Given the description of an element on the screen output the (x, y) to click on. 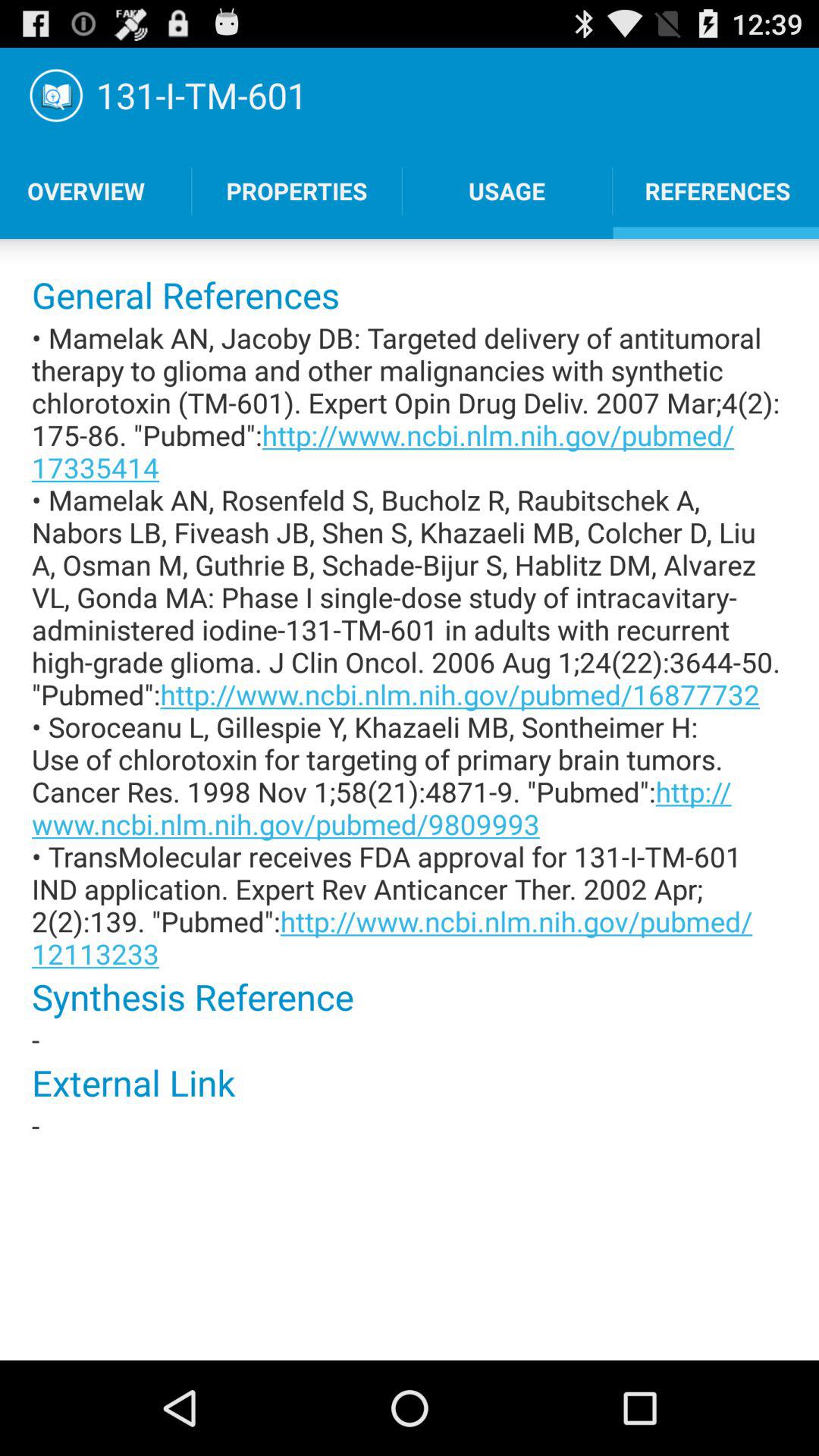
choose the icon below synthesis reference (409, 1039)
